Given the description of an element on the screen output the (x, y) to click on. 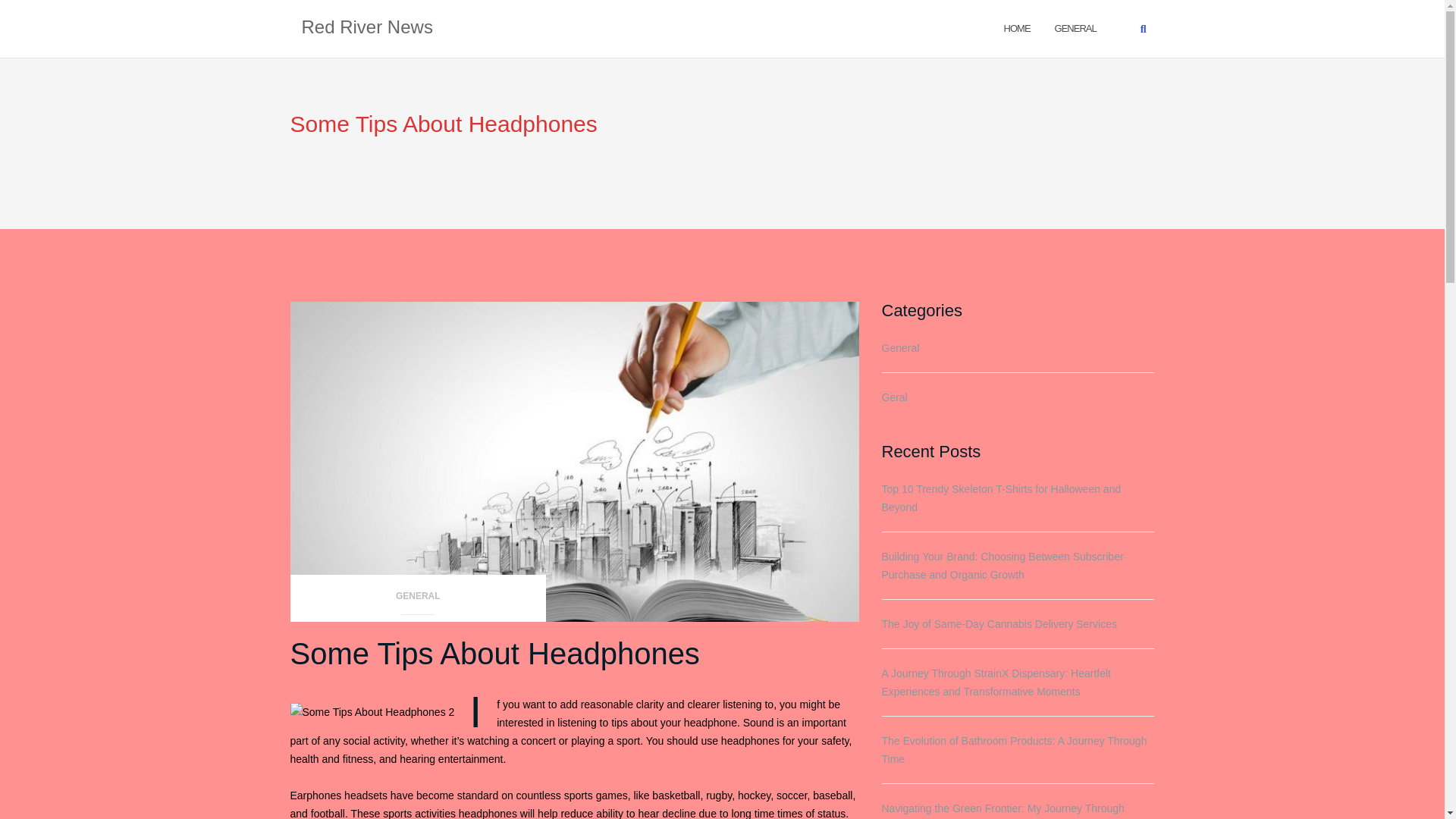
General (1075, 28)
Red River News (366, 28)
Some Tips About Headphones (493, 653)
GENERAL (1075, 28)
GENERAL (417, 601)
